Given the description of an element on the screen output the (x, y) to click on. 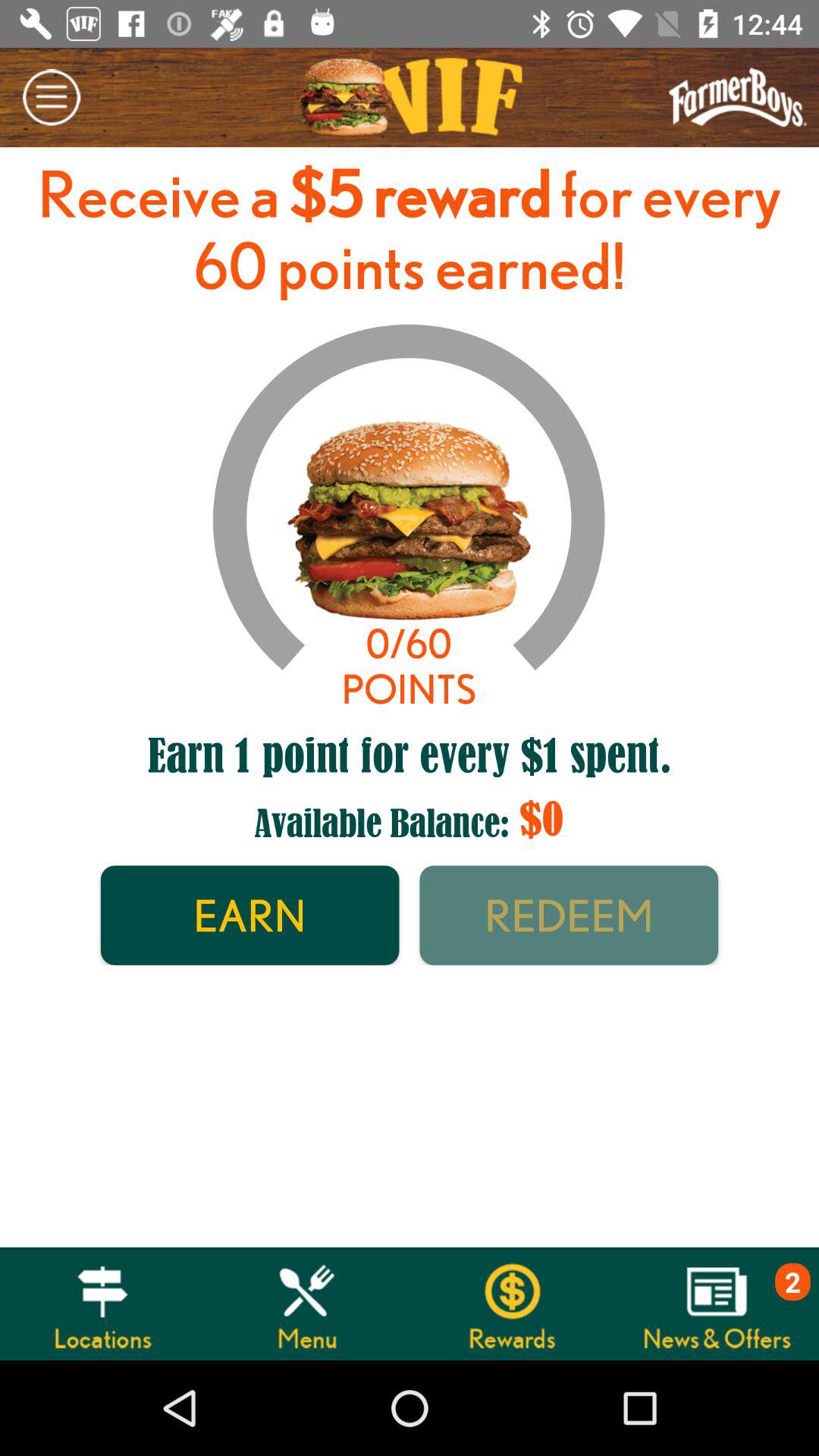
launch the icon next to the earn icon (568, 915)
